Given the description of an element on the screen output the (x, y) to click on. 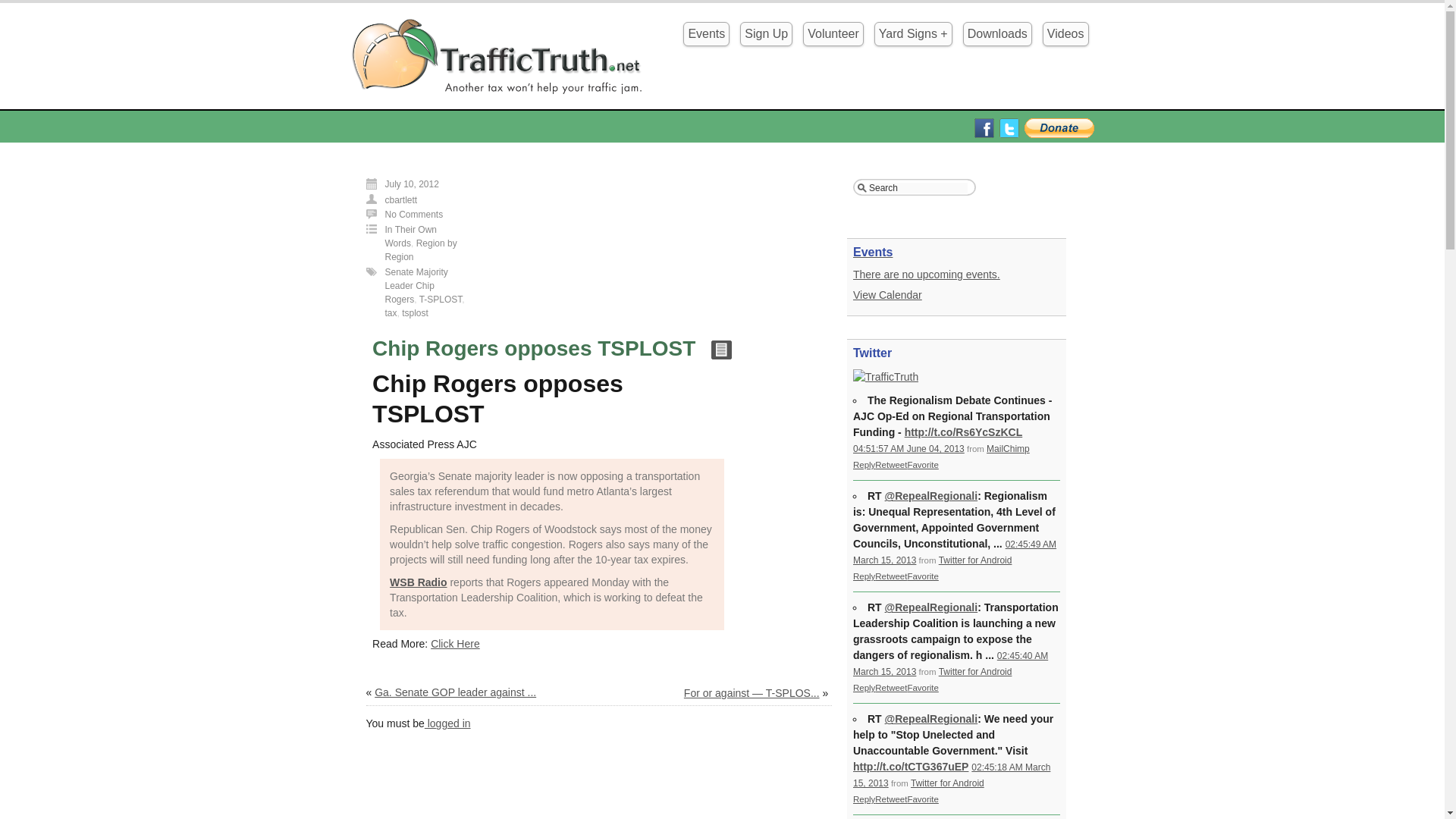
View Calendar (887, 295)
Downloads (997, 33)
Chip Rogers opposes TSPLOST (533, 348)
Search (918, 187)
Videos (1065, 33)
Click Here (455, 644)
cbartlett (401, 199)
Senate Majority Leader Chip Rogers (416, 285)
Favorite (922, 464)
tsplost (414, 312)
